Given the description of an element on the screen output the (x, y) to click on. 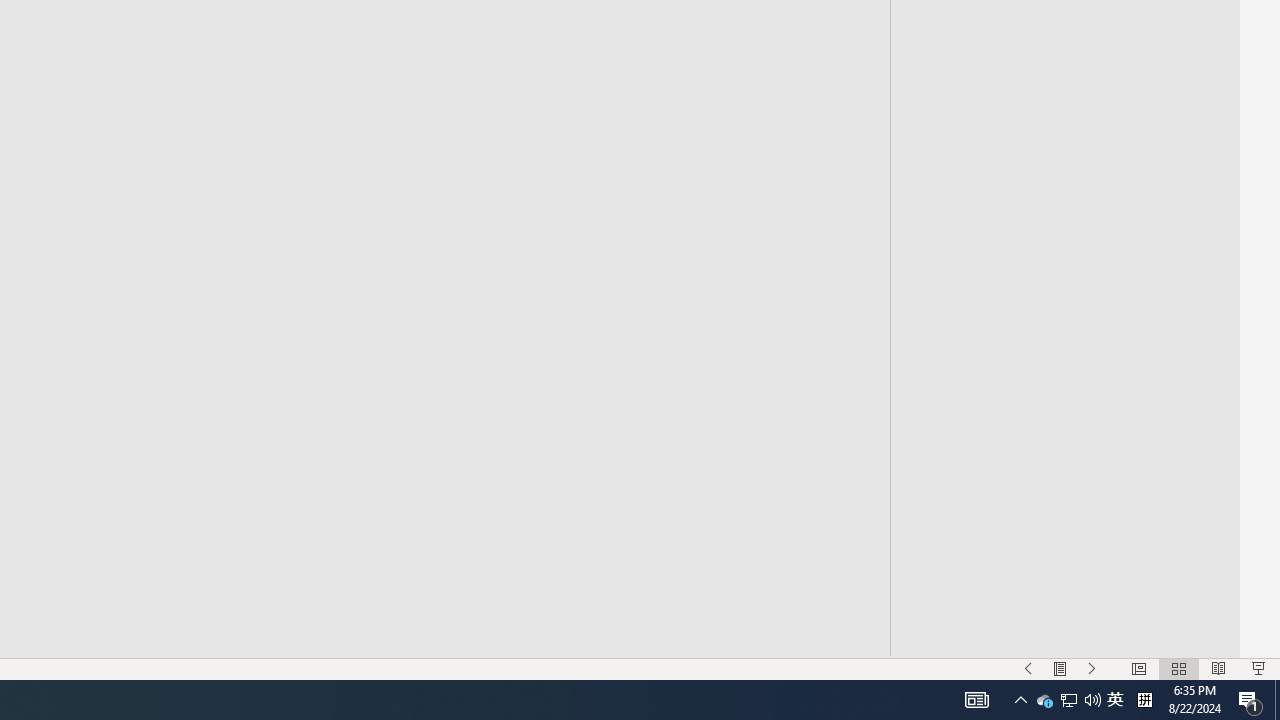
Slide Show Next On (1092, 668)
Slide Show Previous On (1028, 668)
Menu On (1060, 668)
